Given the description of an element on the screen output the (x, y) to click on. 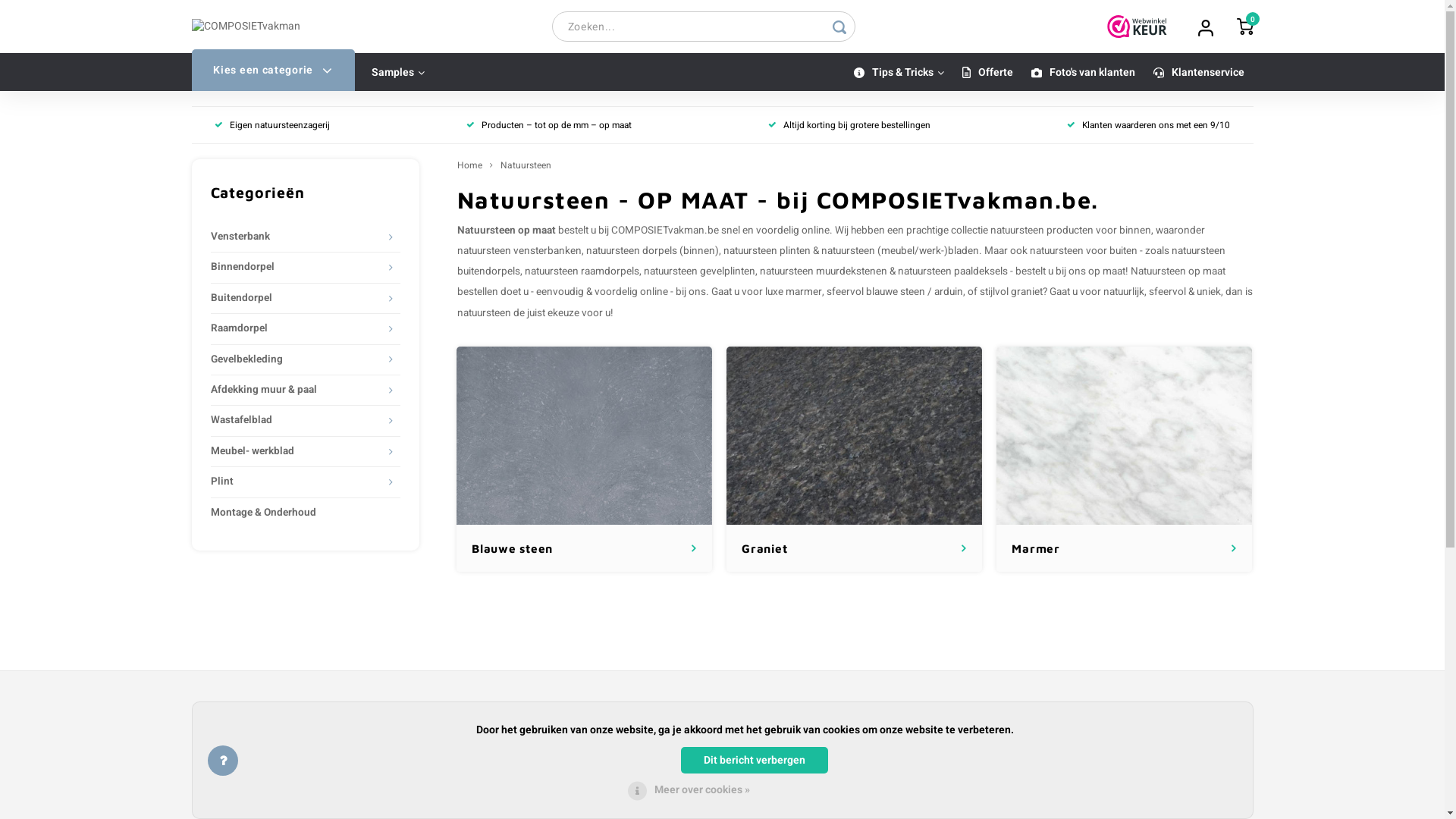
Tips & Tricks Element type: text (898, 72)
Foto's van klanten Element type: text (1083, 72)
Home Element type: text (468, 165)
Plint Element type: text (295, 481)
Samples Element type: text (397, 72)
Blauwe steen Element type: hover (584, 435)
Klantenservice Element type: text (1197, 72)
natuursteen paaldeksels Element type: text (952, 271)
Marmer Element type: text (1124, 459)
Kies een categorie Element type: text (272, 70)
natuursteen gevelplinten Element type: text (698, 271)
Offerte Element type: text (986, 72)
COMPOSIETvakman Element type: hover (285, 716)
Raamdorpel Element type: text (295, 328)
Binnendorpel Element type: text (295, 267)
Dit bericht verbergen Element type: text (754, 759)
klantenservice Element type: text (722, 765)
Blauwe steen Element type: text (584, 459)
marmer Element type: text (803, 291)
natuursteen vensterbanken Element type: text (518, 250)
Meubel- werkblad Element type: text (295, 451)
Montage & Onderhoud Element type: text (305, 512)
natuursteen muurdekstenen Element type: text (823, 271)
Vensterbank Element type: text (295, 236)
Wastafelblad Element type: text (295, 420)
Buitendorpel Element type: text (295, 298)
blauwe steen / arduin Element type: text (914, 291)
Wat zeggen onze klanten. Element type: hover (1096, 760)
Winkelwagen
0 Element type: text (1244, 26)
Natuursteen Element type: text (525, 165)
Gevelbekleding Element type: text (295, 359)
natuursteen buitendorpels Element type: text (840, 261)
Graniet Element type: text (854, 459)
Zoeken Element type: hover (839, 27)
graniet Element type: text (1025, 291)
Graniet Element type: hover (854, 435)
natuursteen (meubel/werk-)bladen Element type: text (899, 250)
natuursteen plinten Element type: text (766, 250)
Webwinkel keur Element type: hover (1137, 26)
Marmer Element type: hover (1124, 435)
natuursteen raamdorpels Element type: text (581, 271)
natuursteen dorpels (binnen) Element type: text (651, 250)
Afdekking muur & paal Element type: text (295, 389)
